Given the description of an element on the screen output the (x, y) to click on. 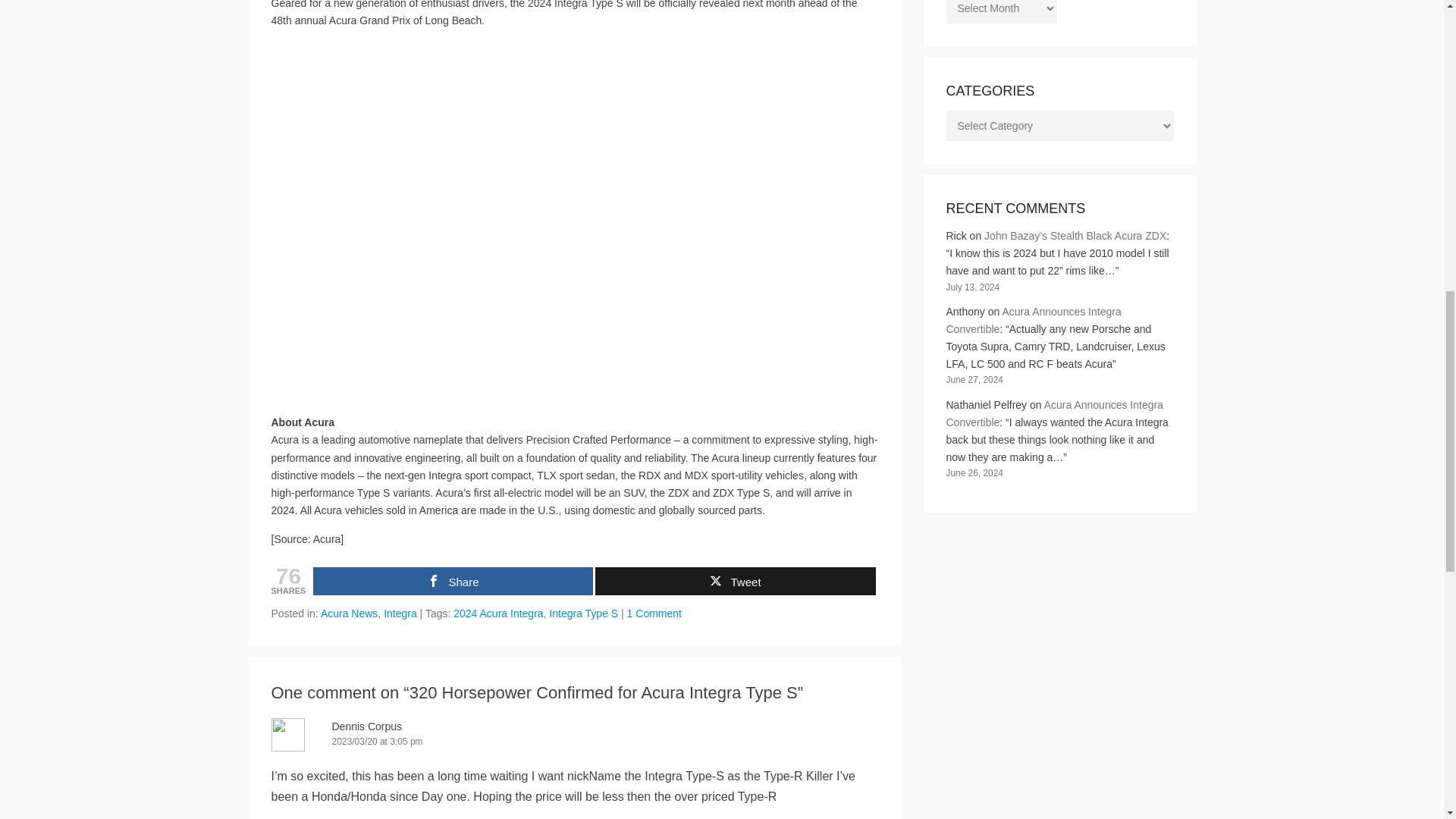
Integra (400, 613)
Share (452, 581)
Acura News (348, 613)
Integra Type S (582, 613)
Dennis Corpus (367, 726)
2024 Acura Integra (497, 613)
1 Comment (654, 613)
Tweet (735, 581)
